Given the description of an element on the screen output the (x, y) to click on. 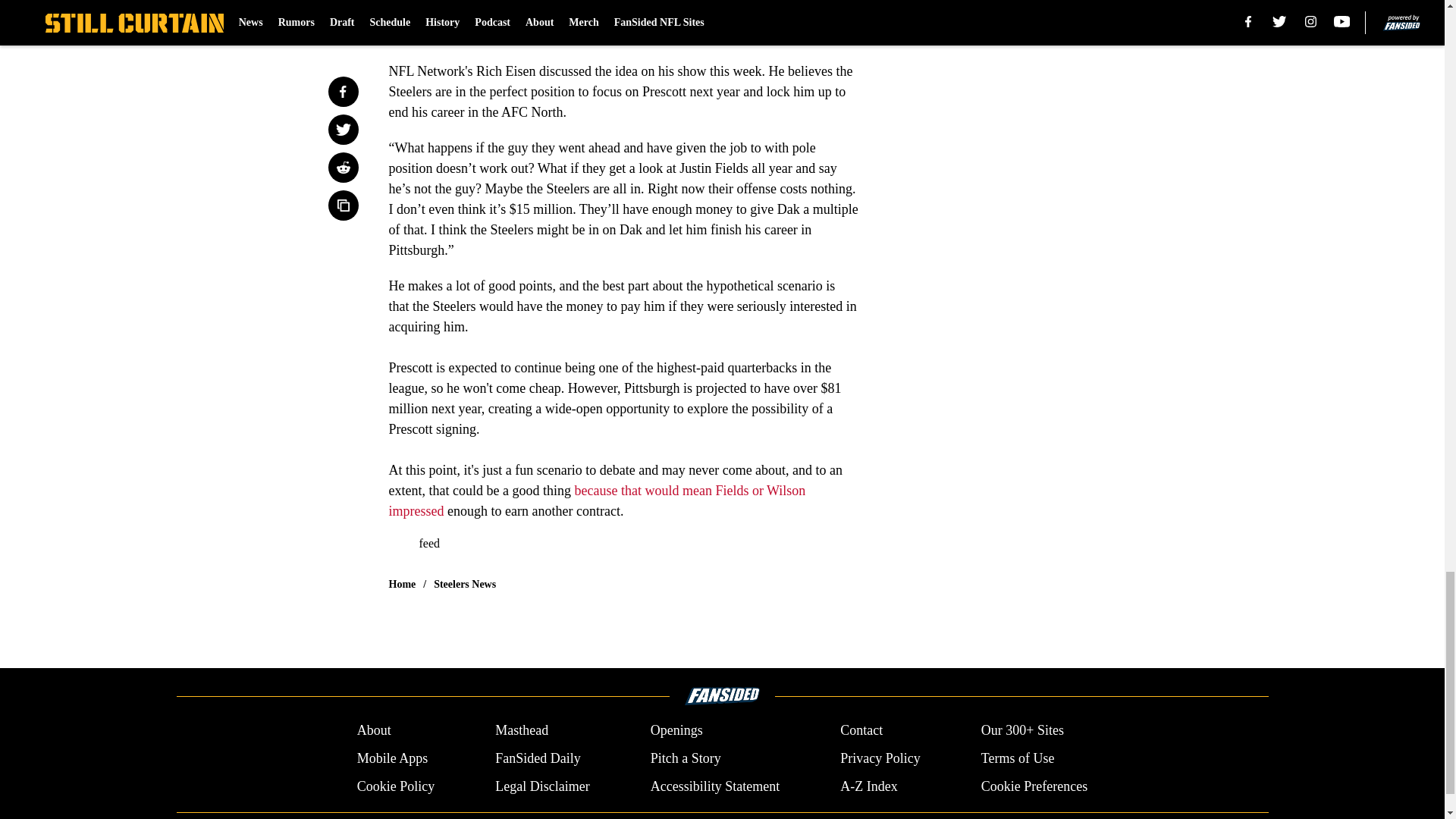
Mobile Apps (392, 758)
Contact (861, 730)
Steelers News (464, 584)
About (373, 730)
Terms of Use (1017, 758)
Masthead (521, 730)
Home (401, 584)
Cookie Policy (395, 786)
FanSided Daily (537, 758)
Pitch a Story (685, 758)
because that would mean Fields or Wilson impressed (596, 500)
Privacy Policy (880, 758)
Openings (676, 730)
